Given the description of an element on the screen output the (x, y) to click on. 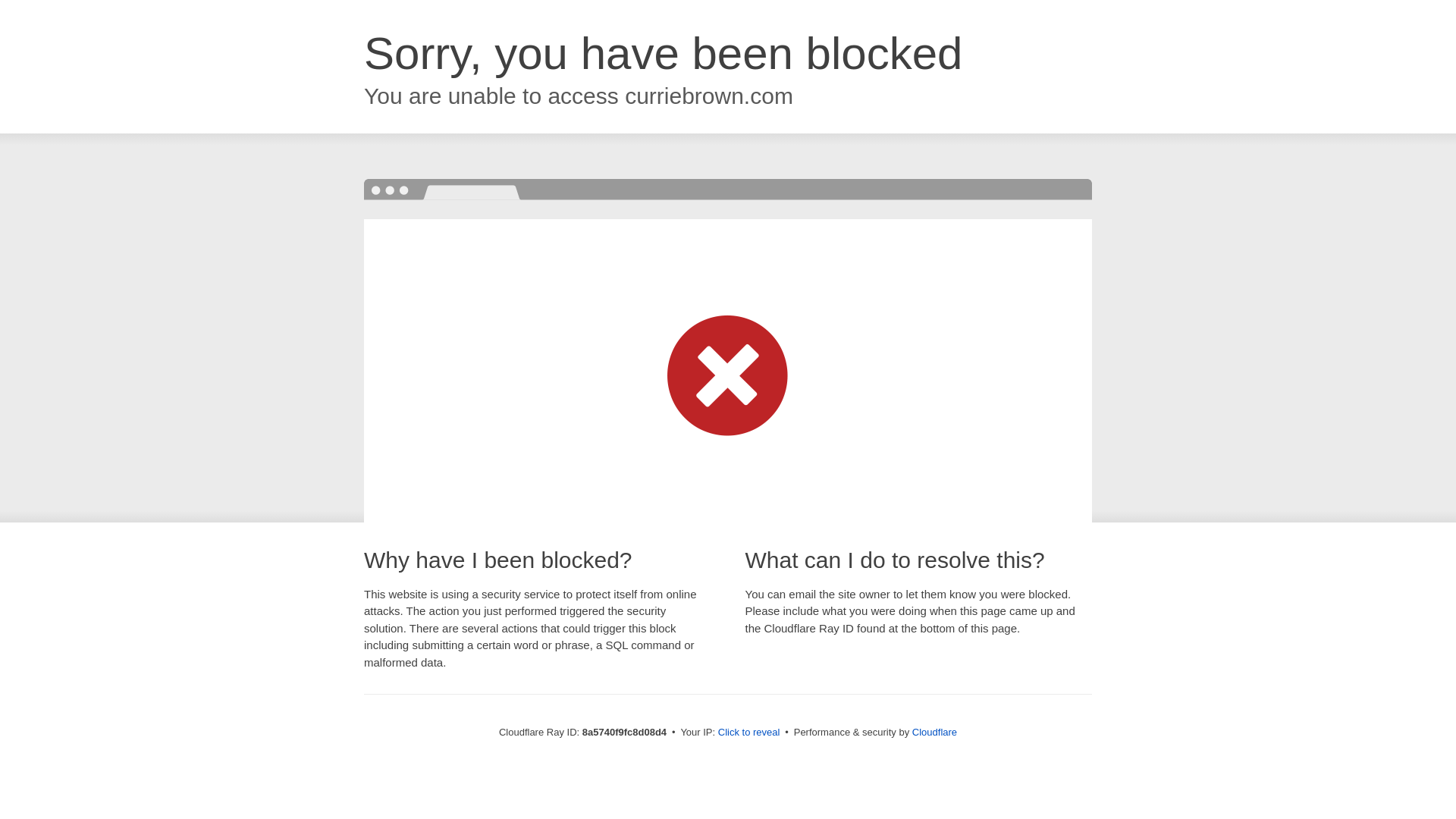
Cloudflare (934, 731)
Click to reveal (748, 732)
